Given the description of an element on the screen output the (x, y) to click on. 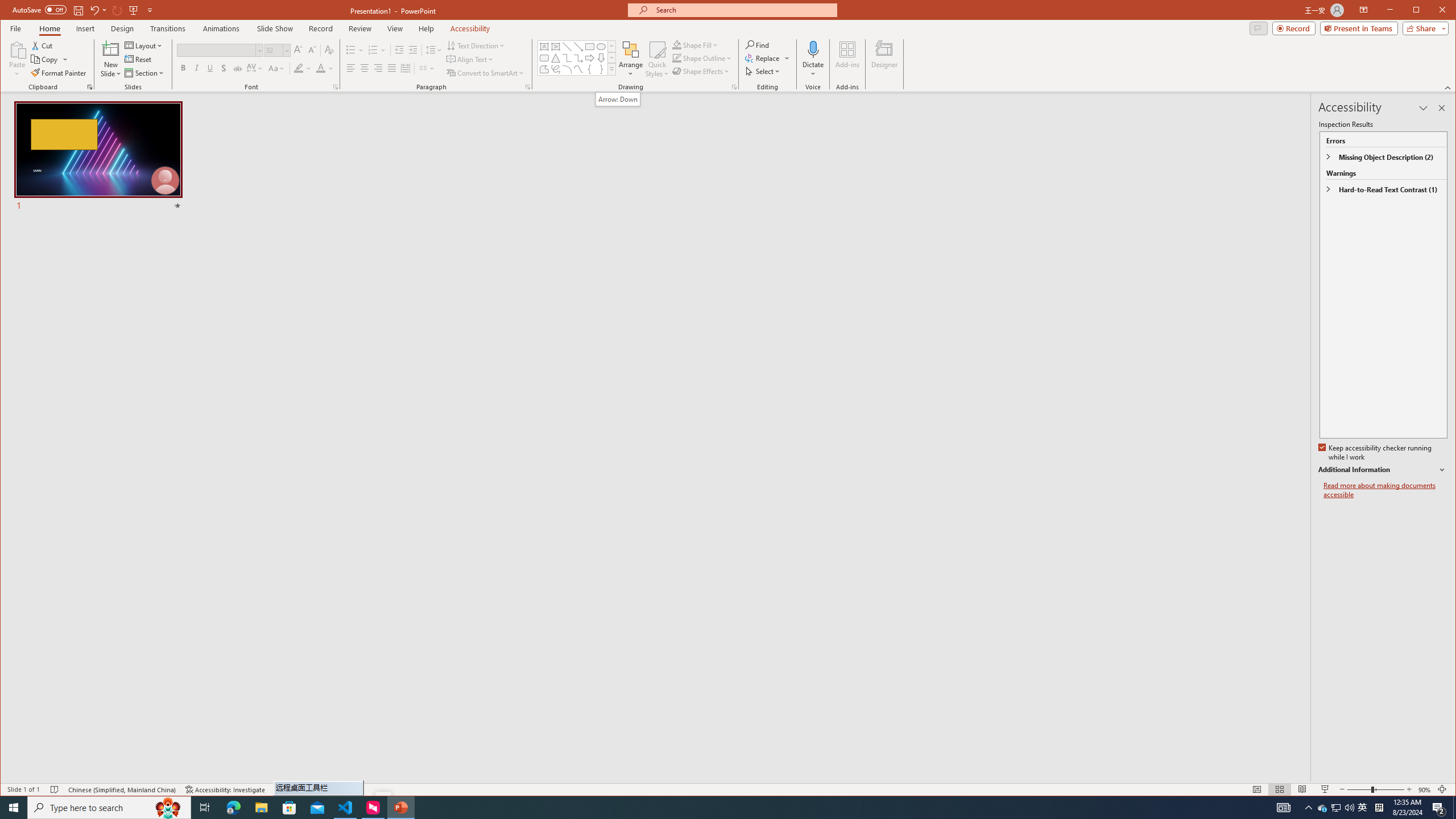
Microsoft Edge (233, 807)
Vertical Text Box (556, 46)
Change Case (276, 68)
Increase Font Size (297, 49)
Reset (138, 59)
Justify (391, 68)
